Given the description of an element on the screen output the (x, y) to click on. 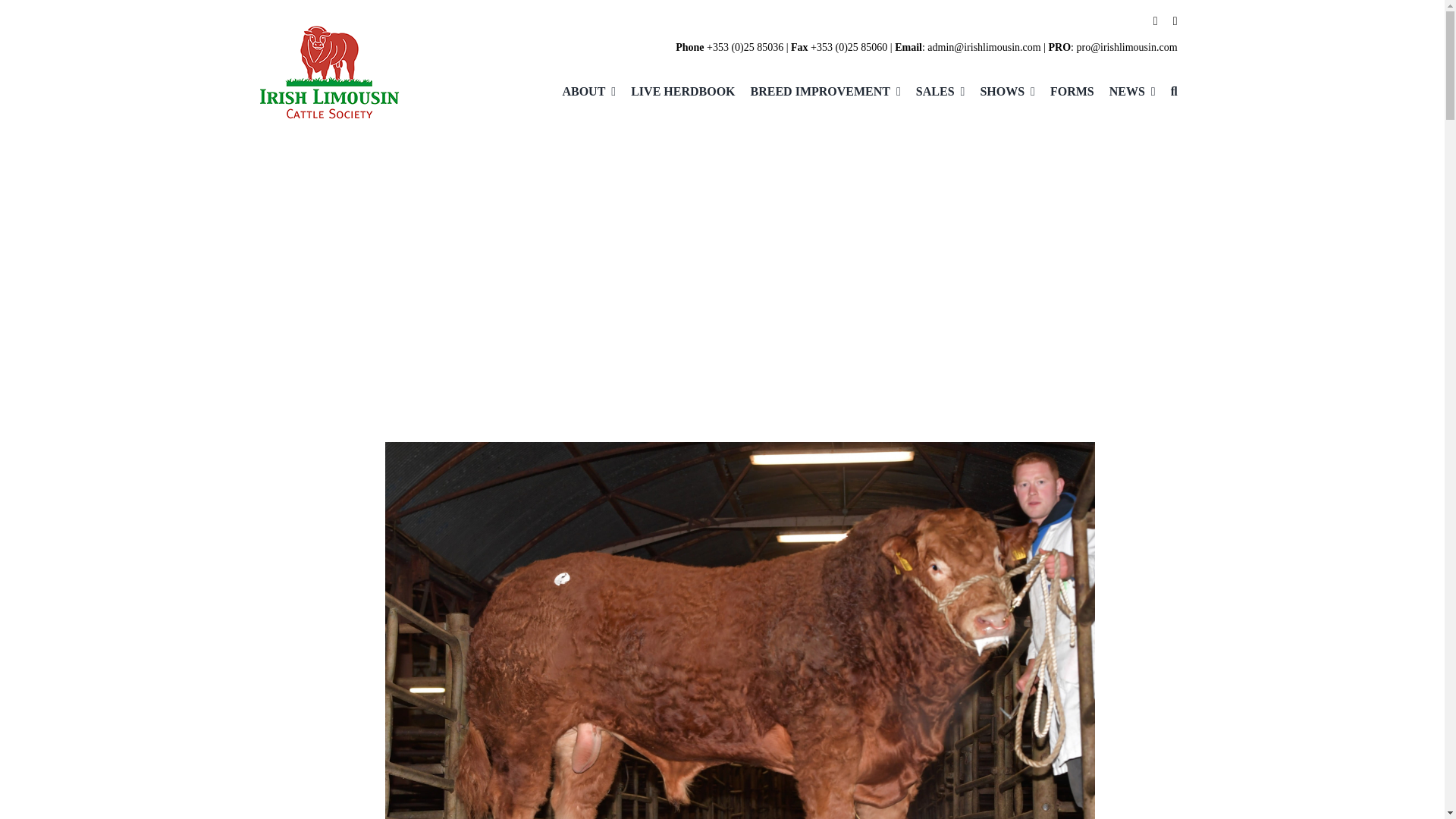
Search (1166, 92)
ABOUT (581, 92)
SALES (933, 92)
LIVE HERDBOOK (675, 92)
BREED IMPROVEMENT (818, 92)
